Given the description of an element on the screen output the (x, y) to click on. 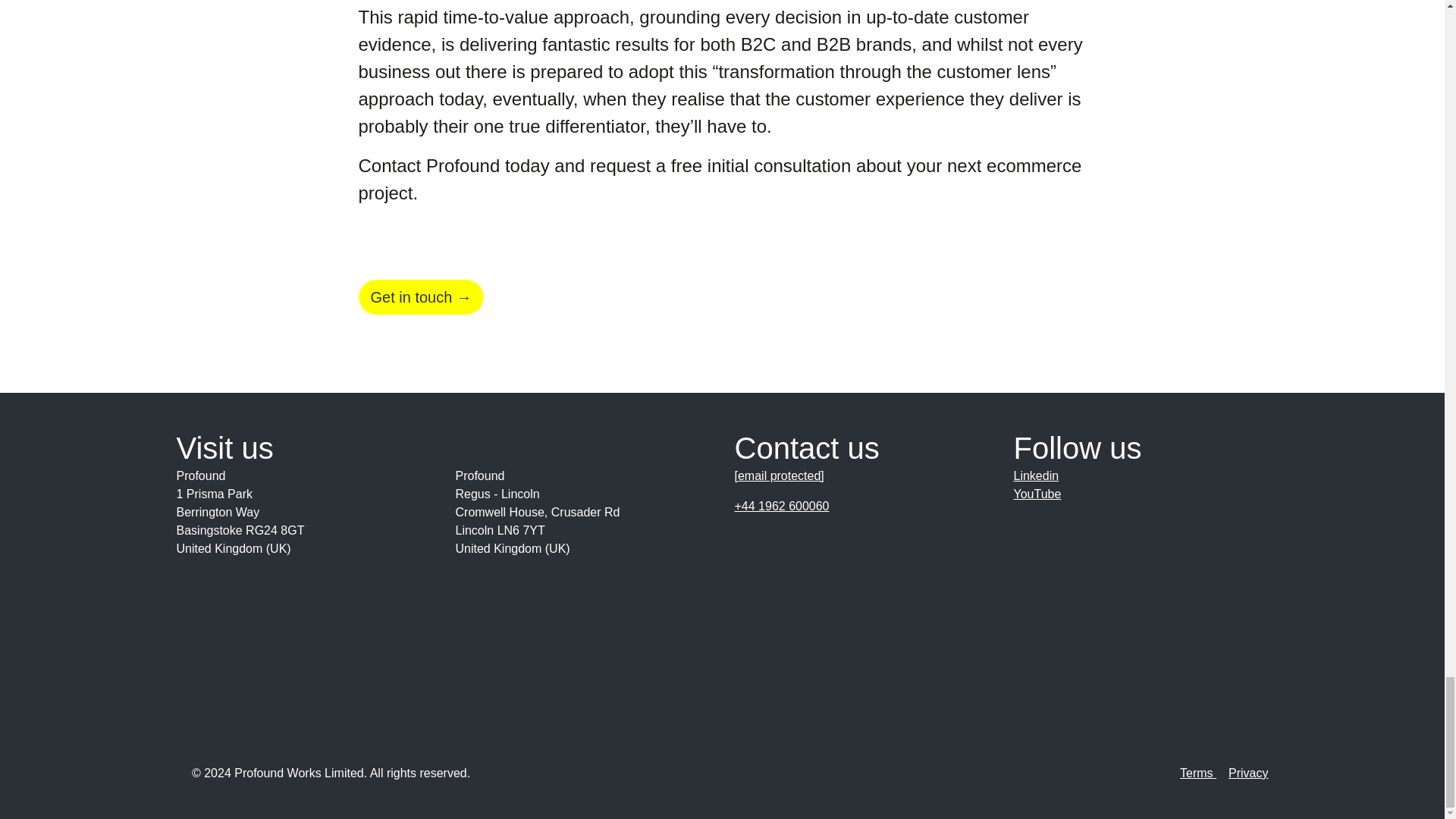
Privacy (1248, 772)
Linkedin (1140, 475)
Terms (1203, 772)
YouTube (1140, 494)
